Given the description of an element on the screen output the (x, y) to click on. 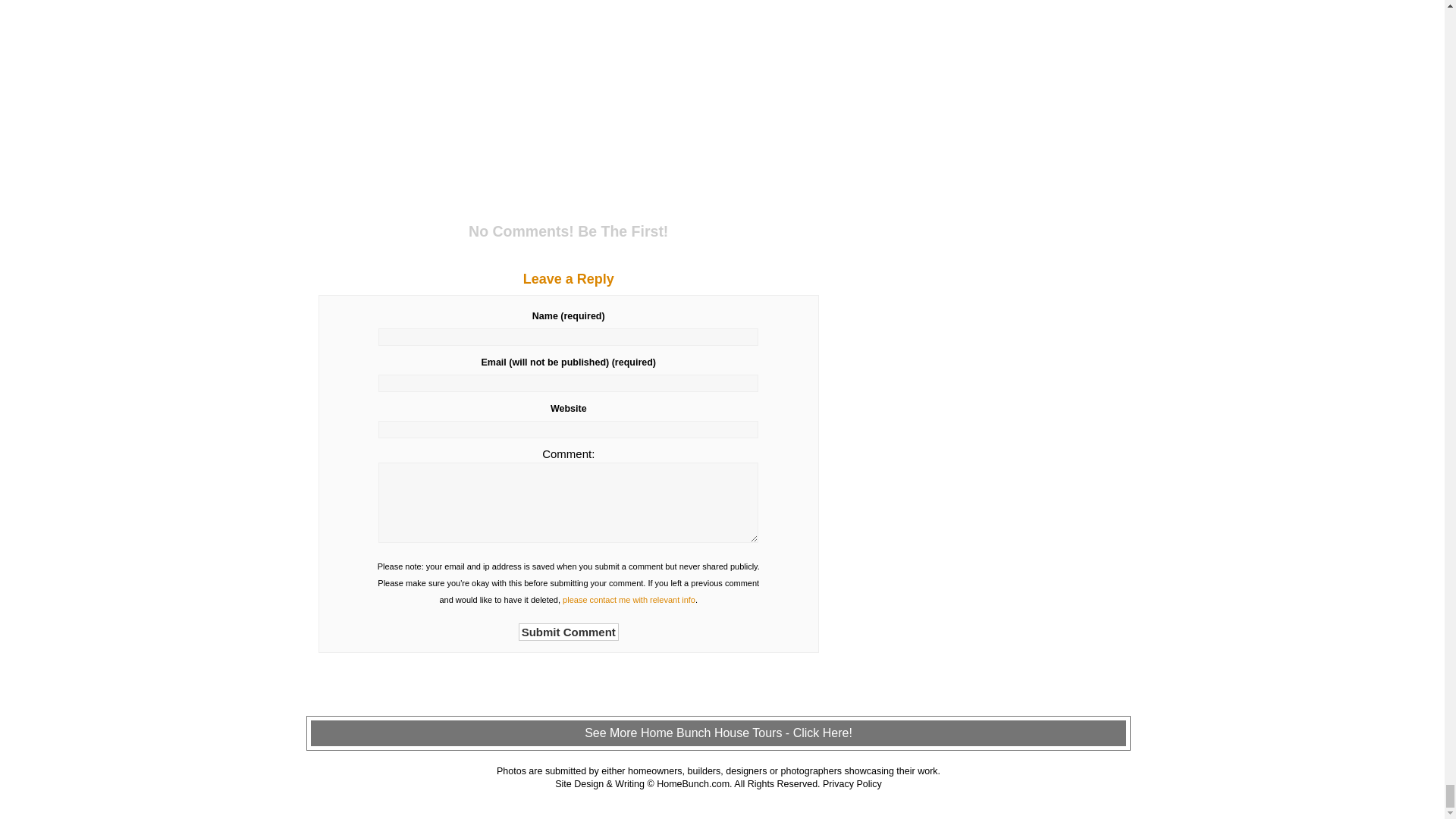
Submit Comment (568, 631)
